Given the description of an element on the screen output the (x, y) to click on. 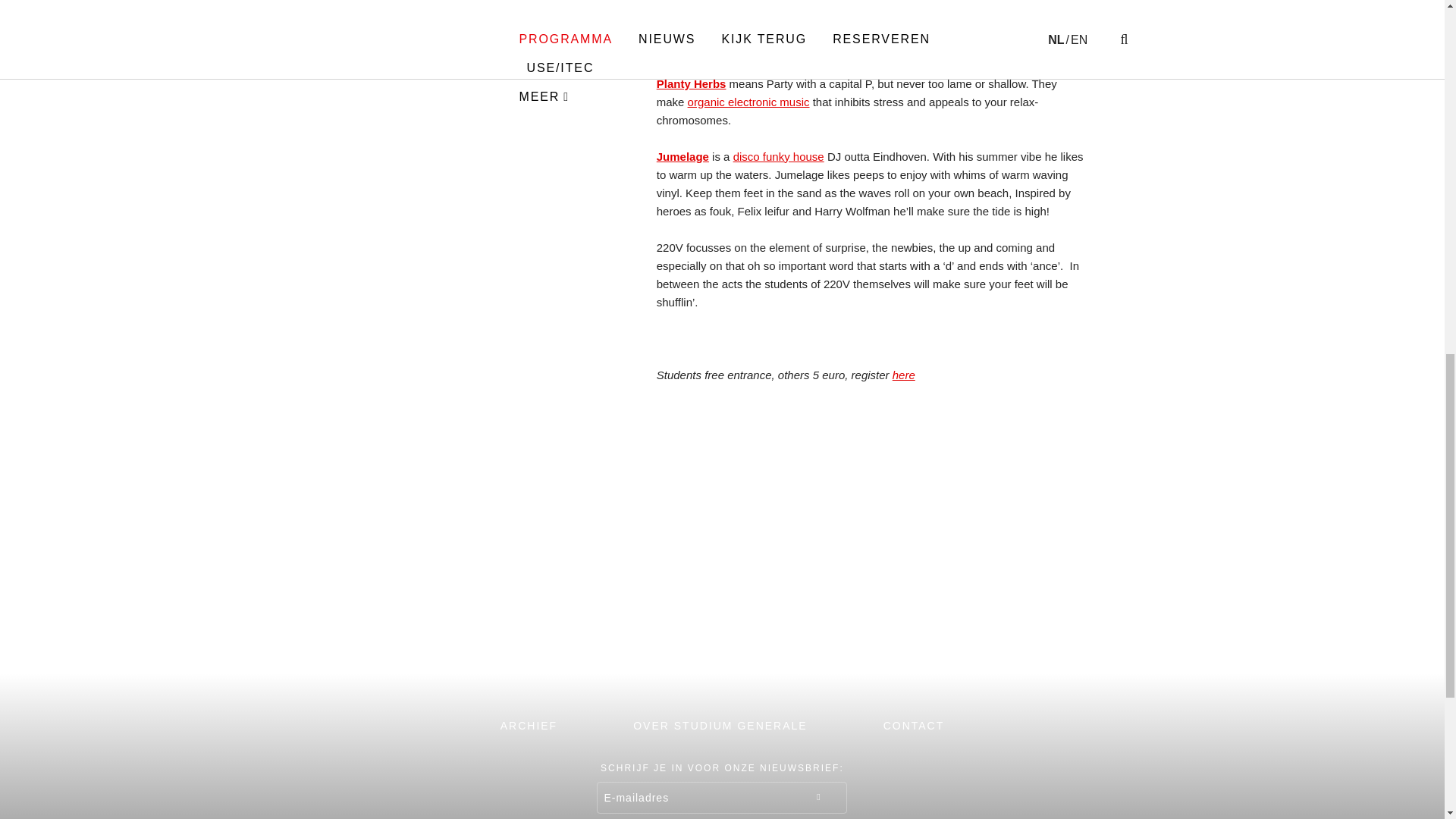
RESERVEREN (898, 664)
Planty Herbs (691, 83)
PROGRAMMA (369, 664)
organic electronic music (748, 101)
Jumelage (682, 155)
CONTACT (913, 725)
here (903, 374)
NIEUWS (545, 664)
ARCHIEF (528, 725)
disco funky house (778, 155)
